Given the description of an element on the screen output the (x, y) to click on. 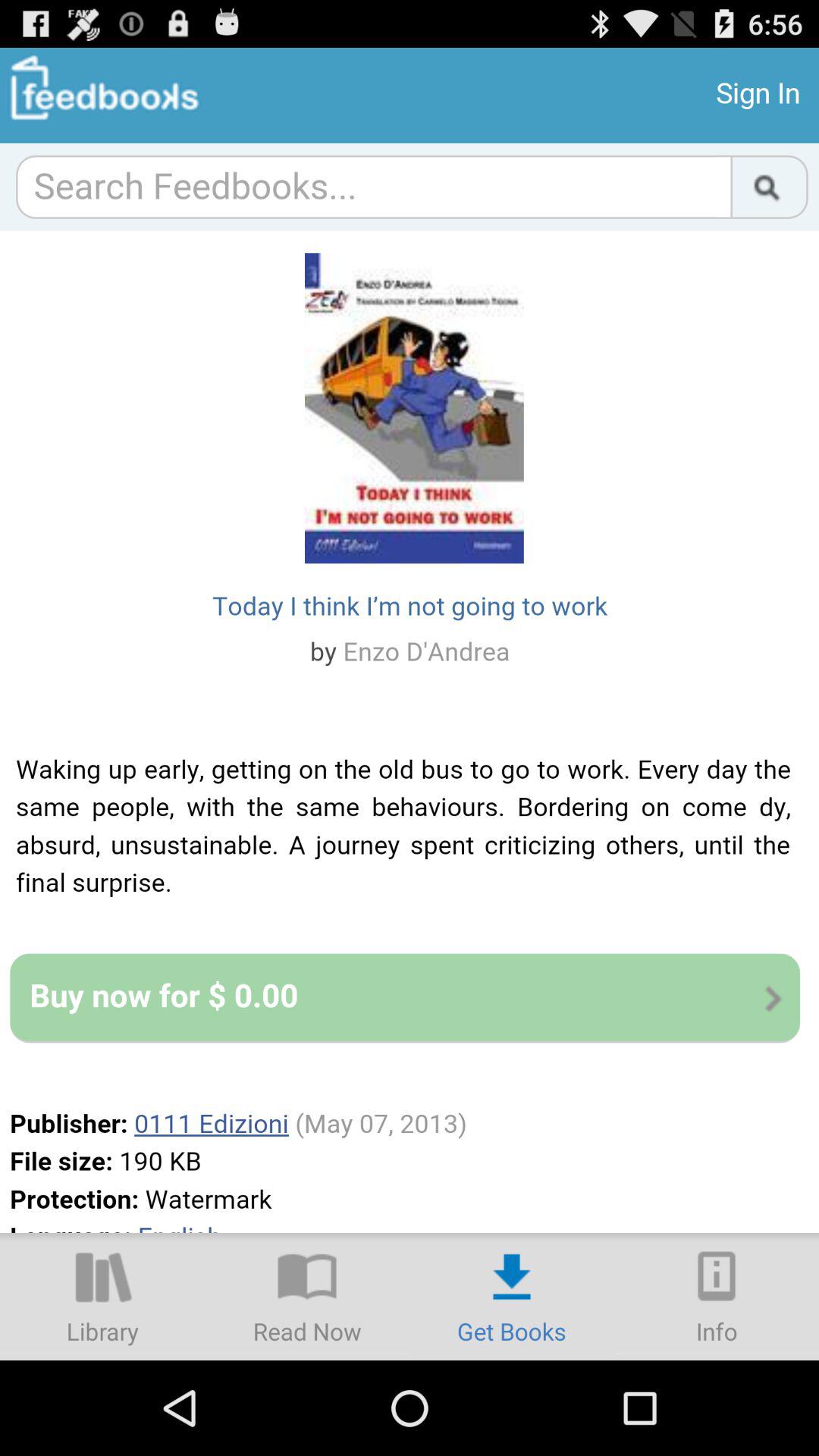
book (306, 1296)
